Given the description of an element on the screen output the (x, y) to click on. 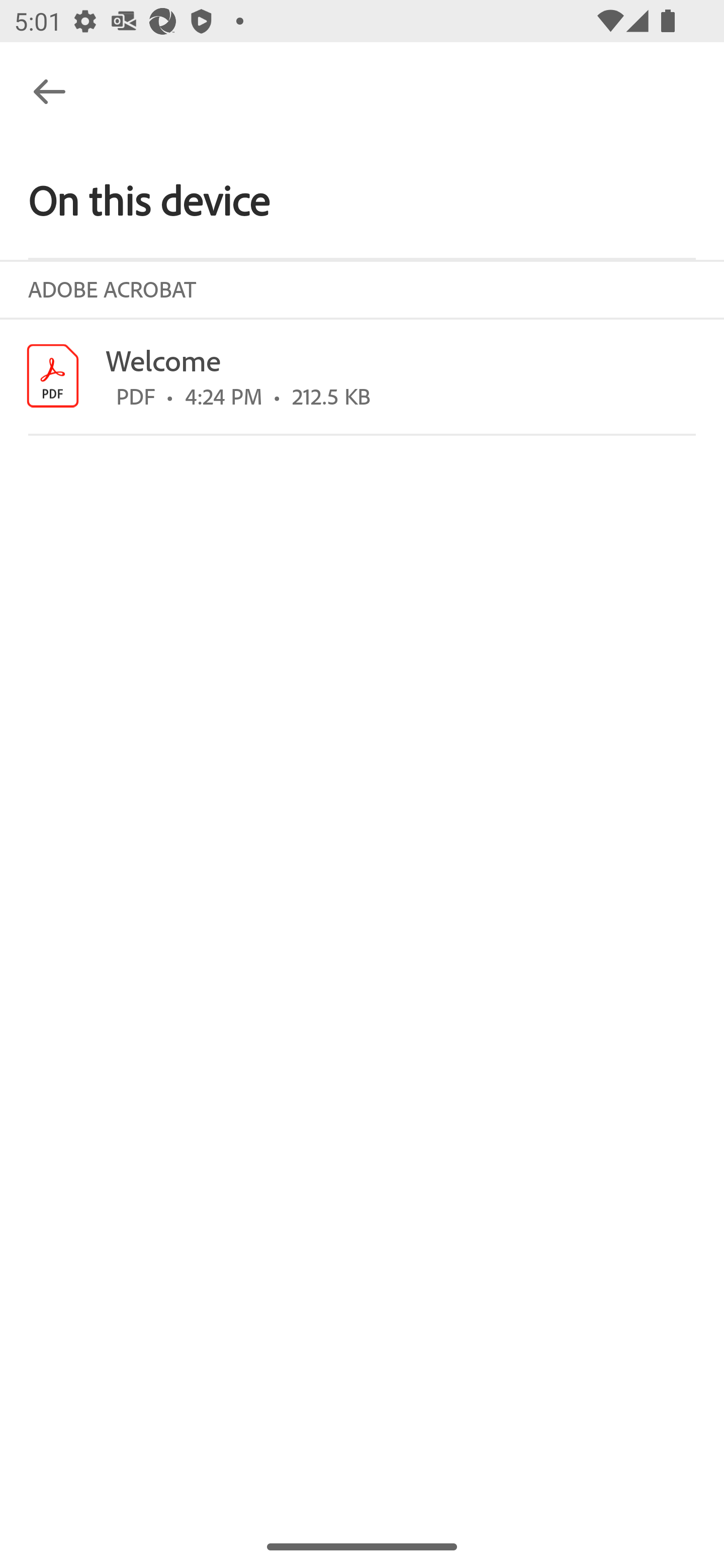
Navigate up (49, 91)
Welcome.pdf Welcome PDF •  4:24 PM •  212.5 KB (362, 376)
